Given the description of an element on the screen output the (x, y) to click on. 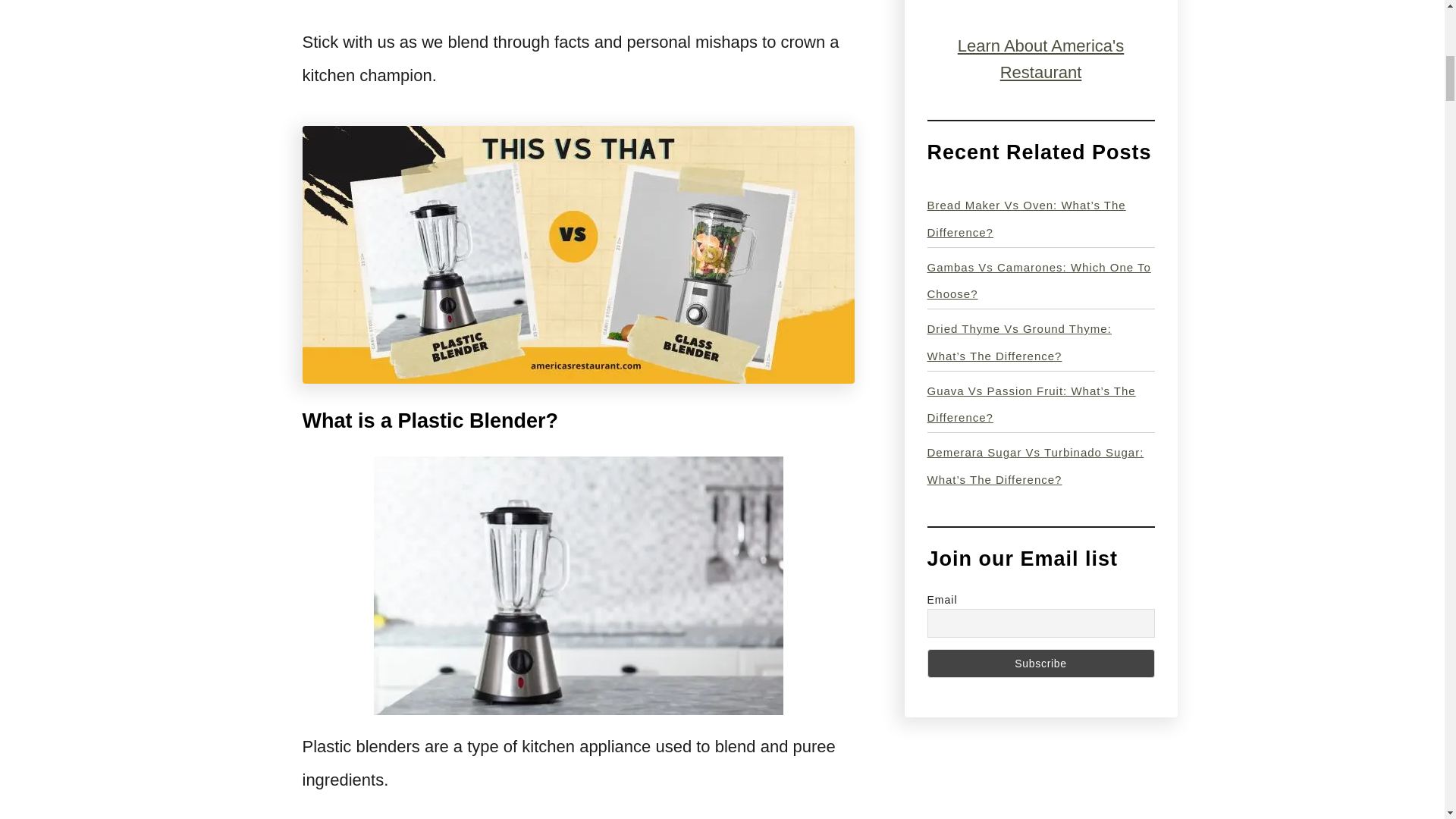
Subscribe (1040, 663)
Gambas vs Camarones: Which One to Choose? (1038, 281)
